Given the description of an element on the screen output the (x, y) to click on. 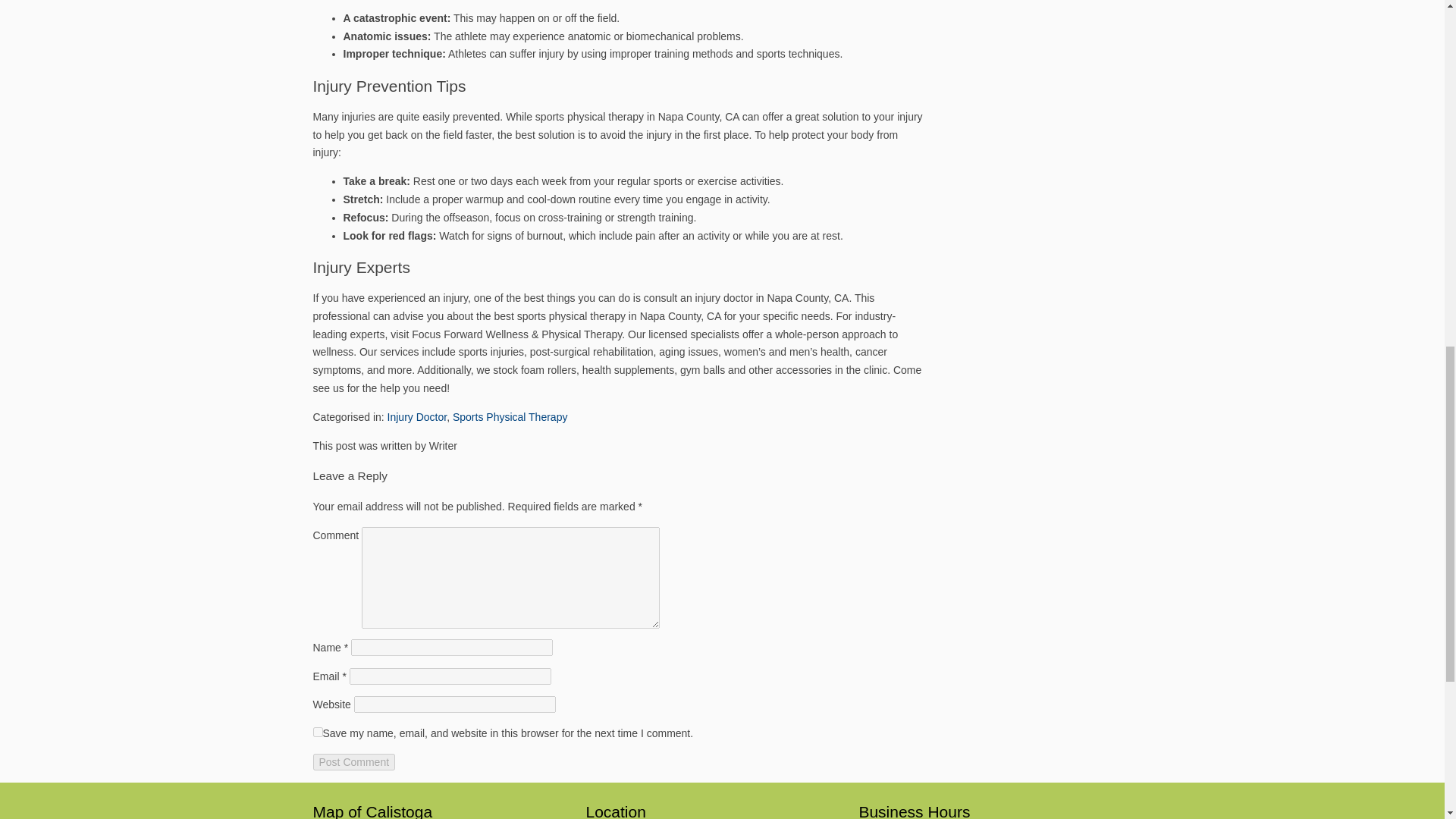
Sports Physical Therapy (509, 417)
Post Comment (353, 761)
Injury Doctor (416, 417)
Post Comment (353, 761)
yes (317, 732)
